Given the description of an element on the screen output the (x, y) to click on. 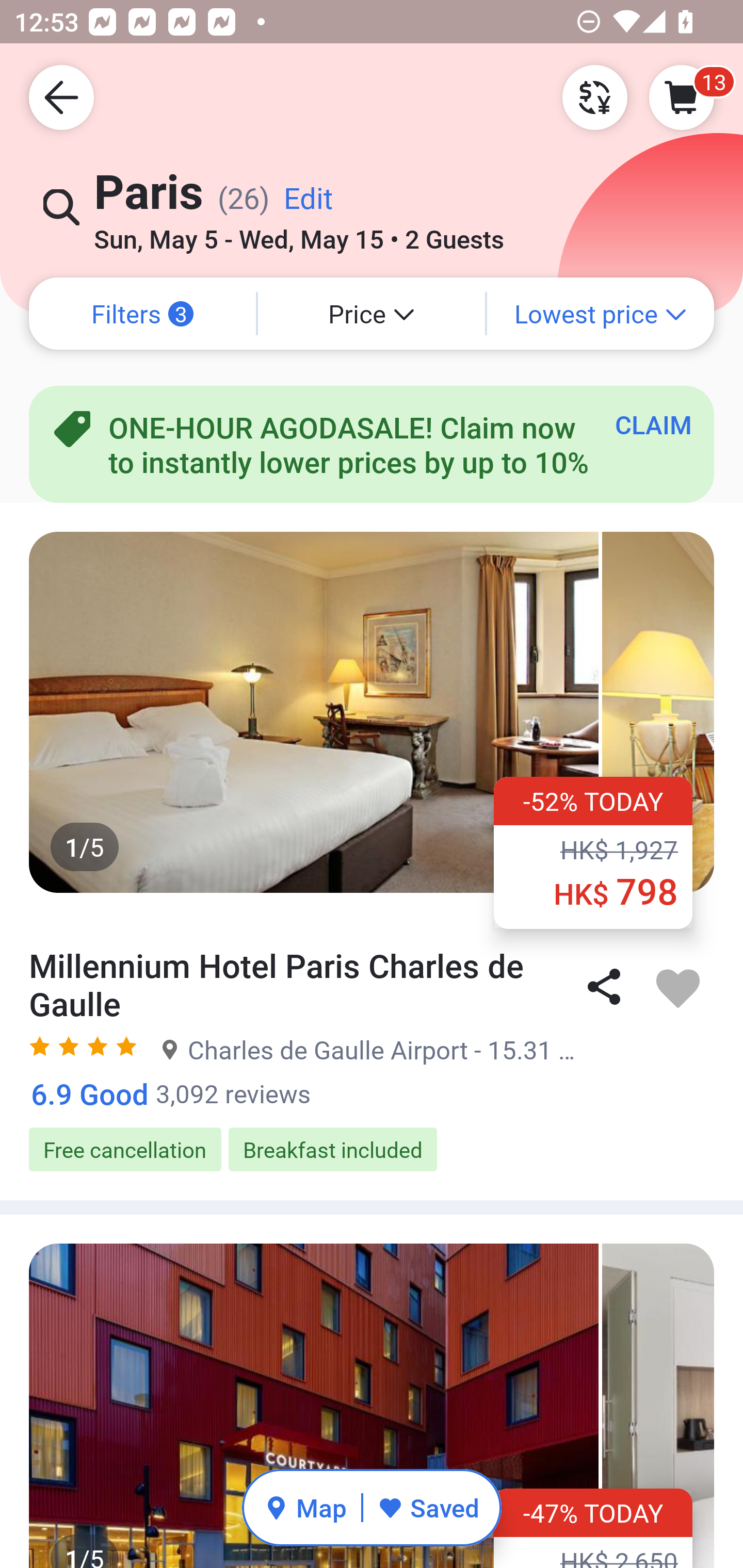
Sun, May 5 - Wed, May 15 • 2 Guests (298, 232)
Filters 3 (141, 313)
Price (371, 313)
Lowest price (600, 313)
CLAIM (653, 424)
1/5 (371, 711)
-52% TODAY ‪HK$ 1,927 ‪HK$ 798 (593, 852)
Free cancellation Breakfast included (371, 1150)
1/5 (371, 1405)
Map (305, 1507)
Saved (428, 1507)
-47% TODAY ‪HK$ 2,650 (593, 1528)
